Given the description of an element on the screen output the (x, y) to click on. 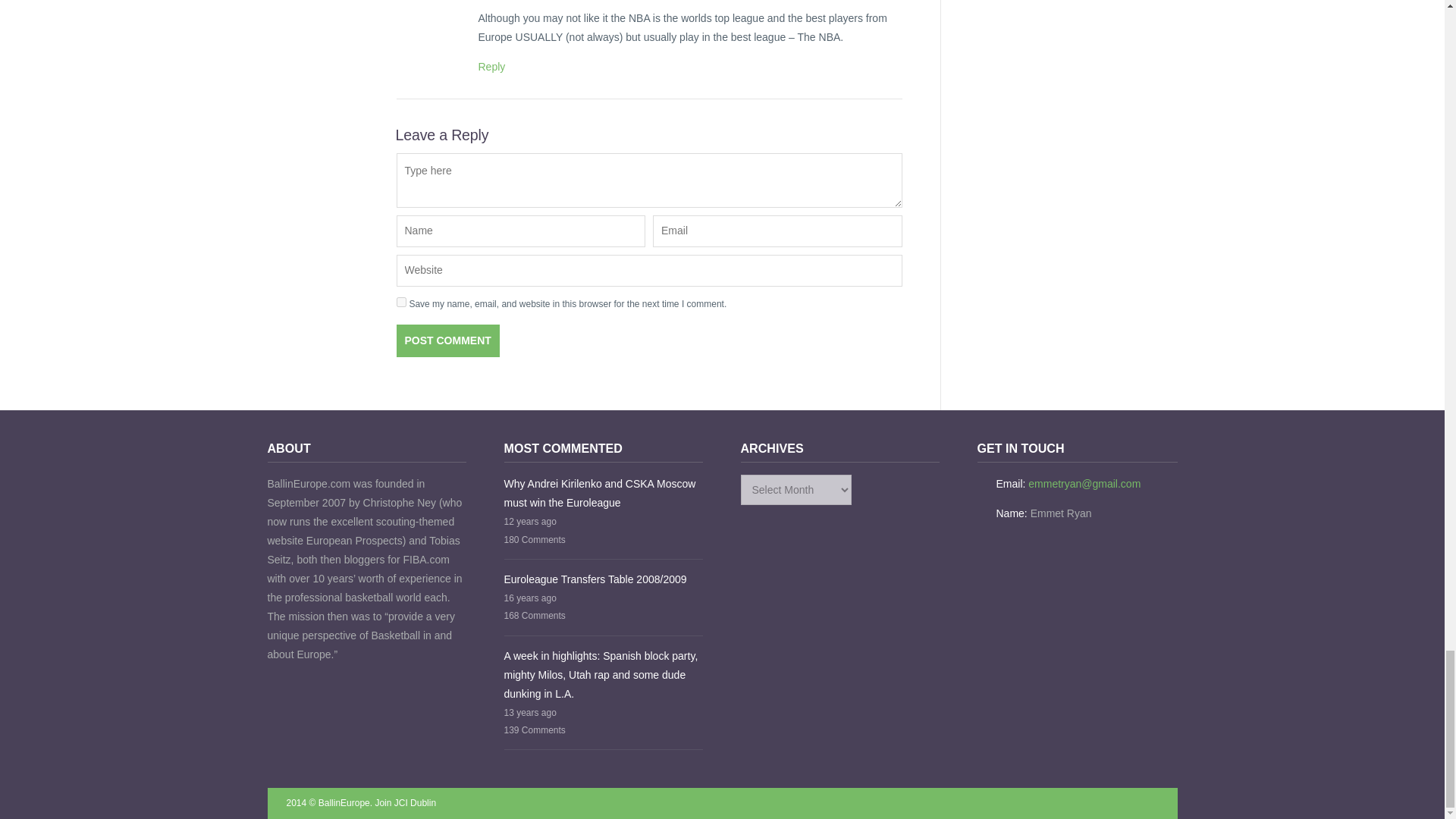
Post Comment (447, 340)
yes (401, 302)
8001 (491, 66)
